Given the description of an element on the screen output the (x, y) to click on. 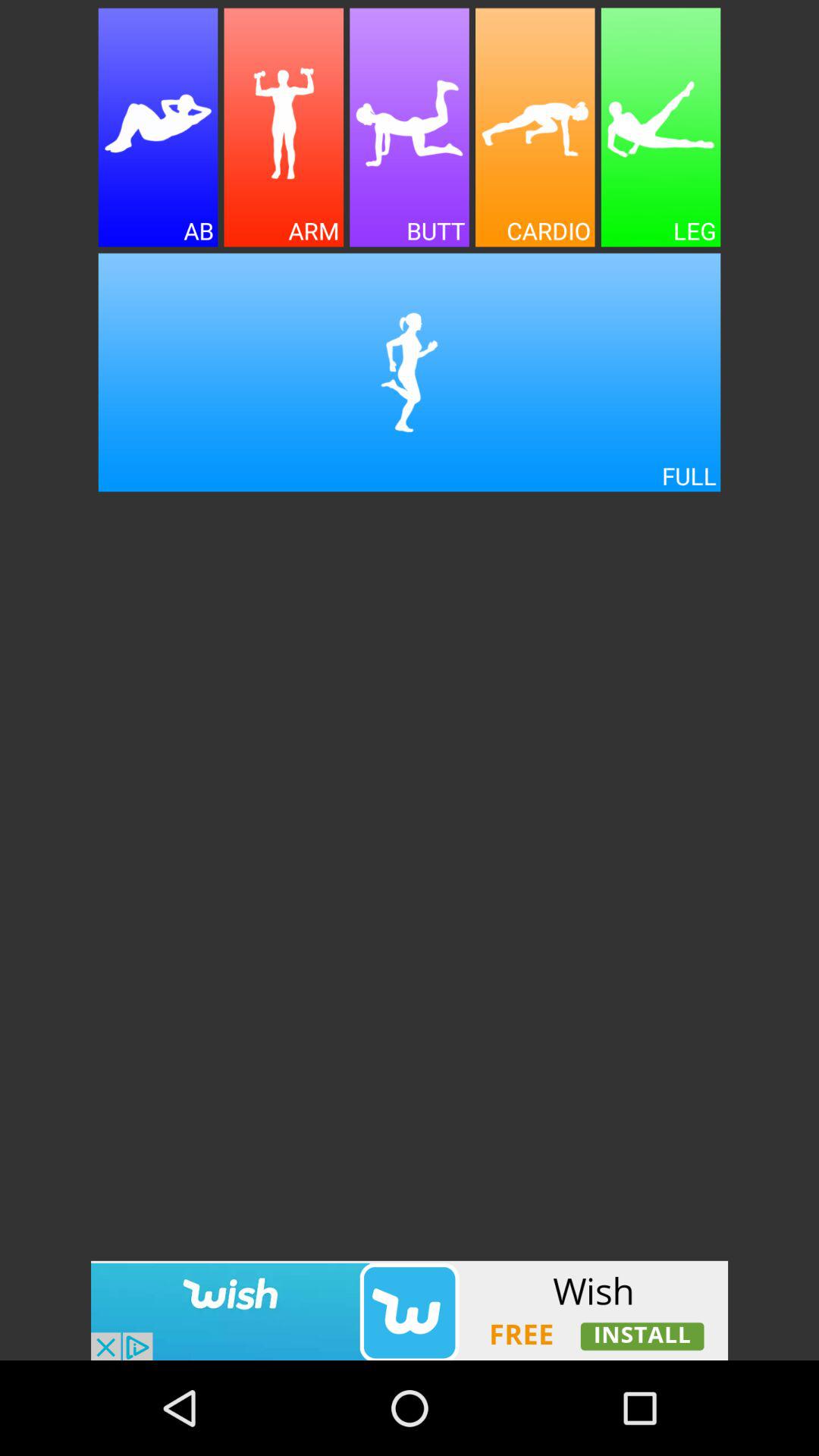
working on leg exercises (660, 126)
